Given the description of an element on the screen output the (x, y) to click on. 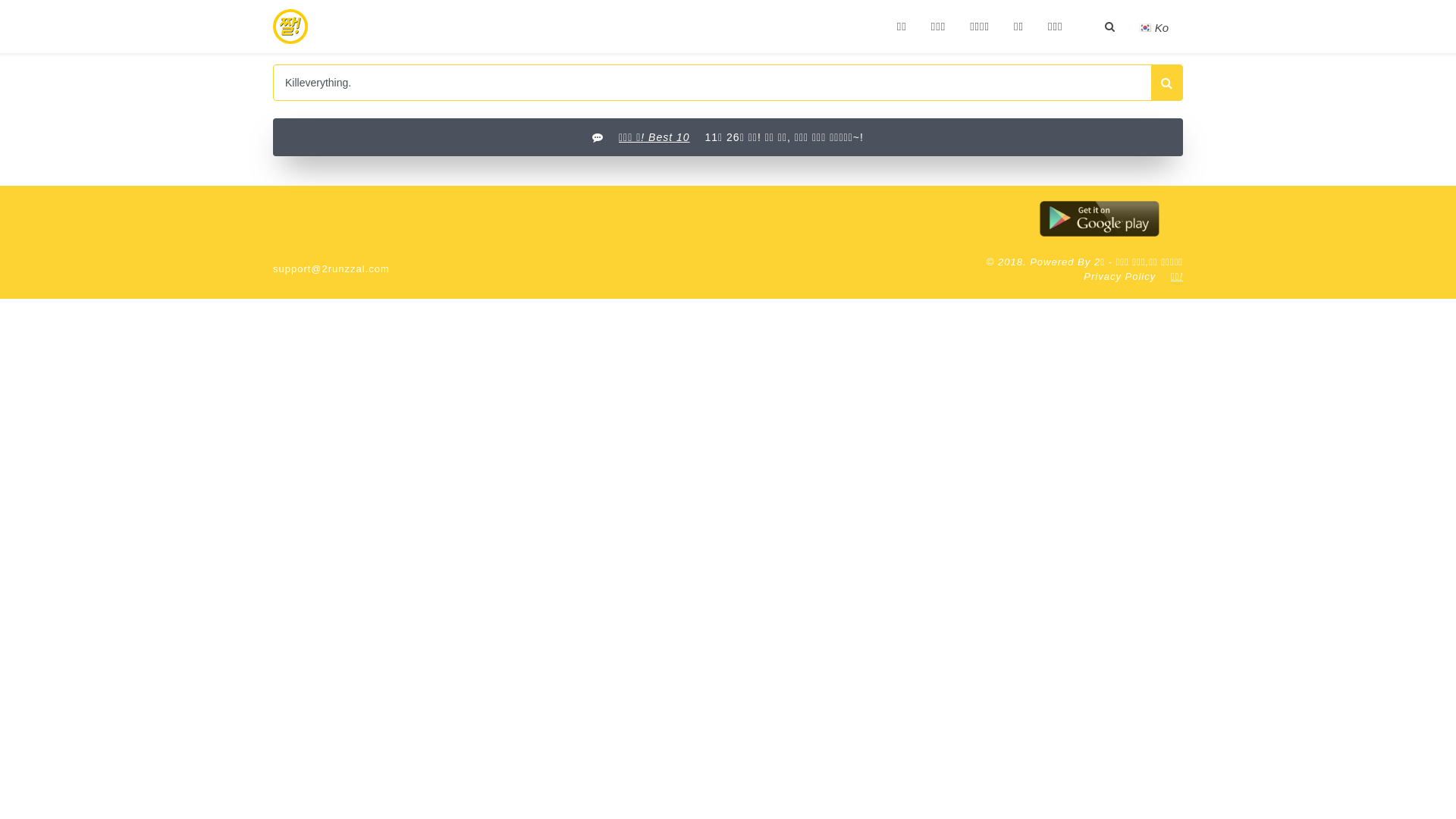
Ko Element type: text (1154, 26)
support@2runzzal.com Element type: text (331, 268)
Privacy Policy Element type: text (1119, 276)
